Given the description of an element on the screen output the (x, y) to click on. 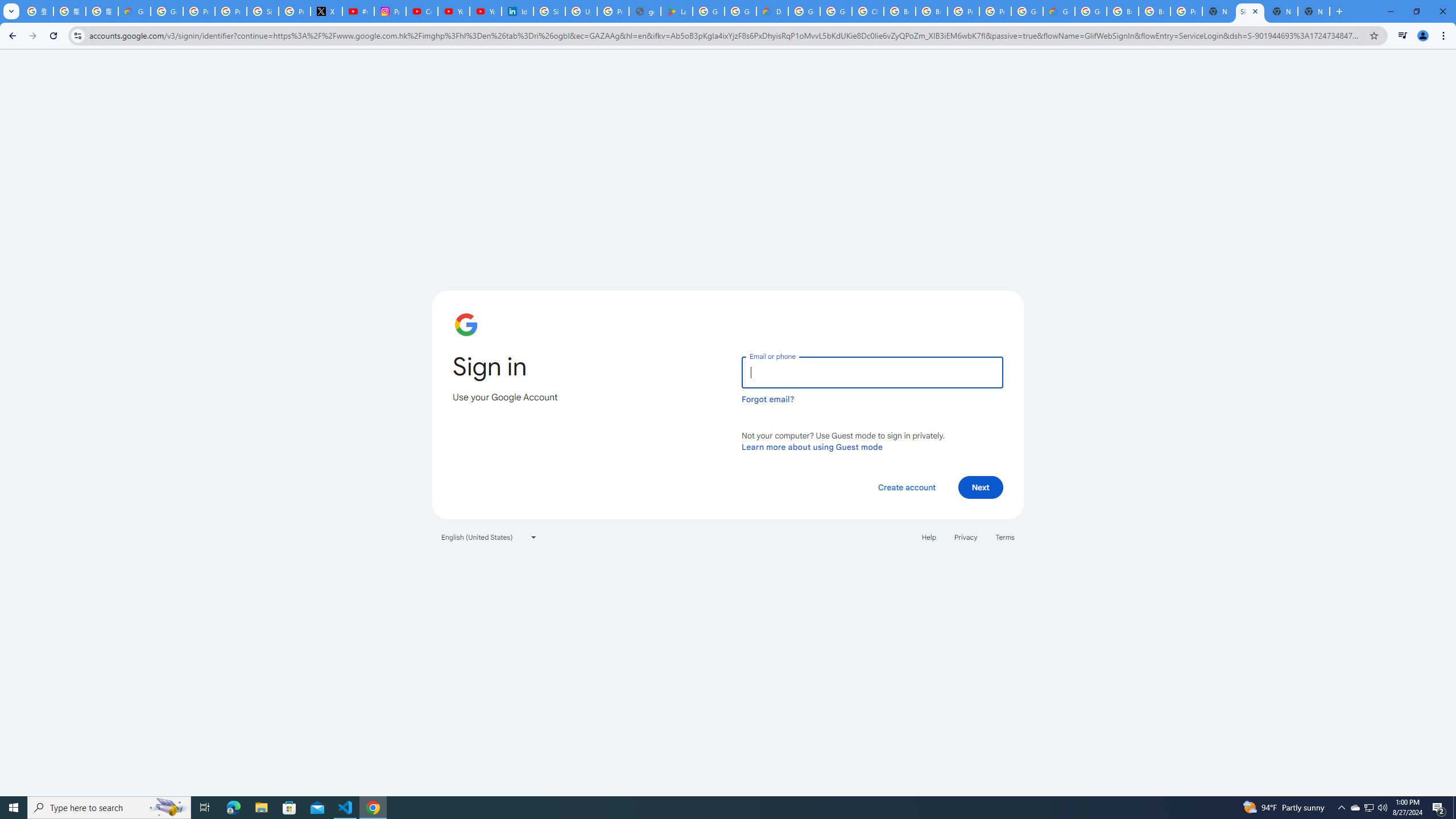
Email or phone (871, 372)
Learn more about using Guest mode (812, 446)
Google Workspace - Specific Terms (740, 11)
Identity verification via Persona | LinkedIn Help (517, 11)
Forgot email? (767, 398)
Privacy (965, 536)
Help (928, 536)
Next (980, 486)
Control your music, videos, and more (1402, 35)
